Given the description of an element on the screen output the (x, y) to click on. 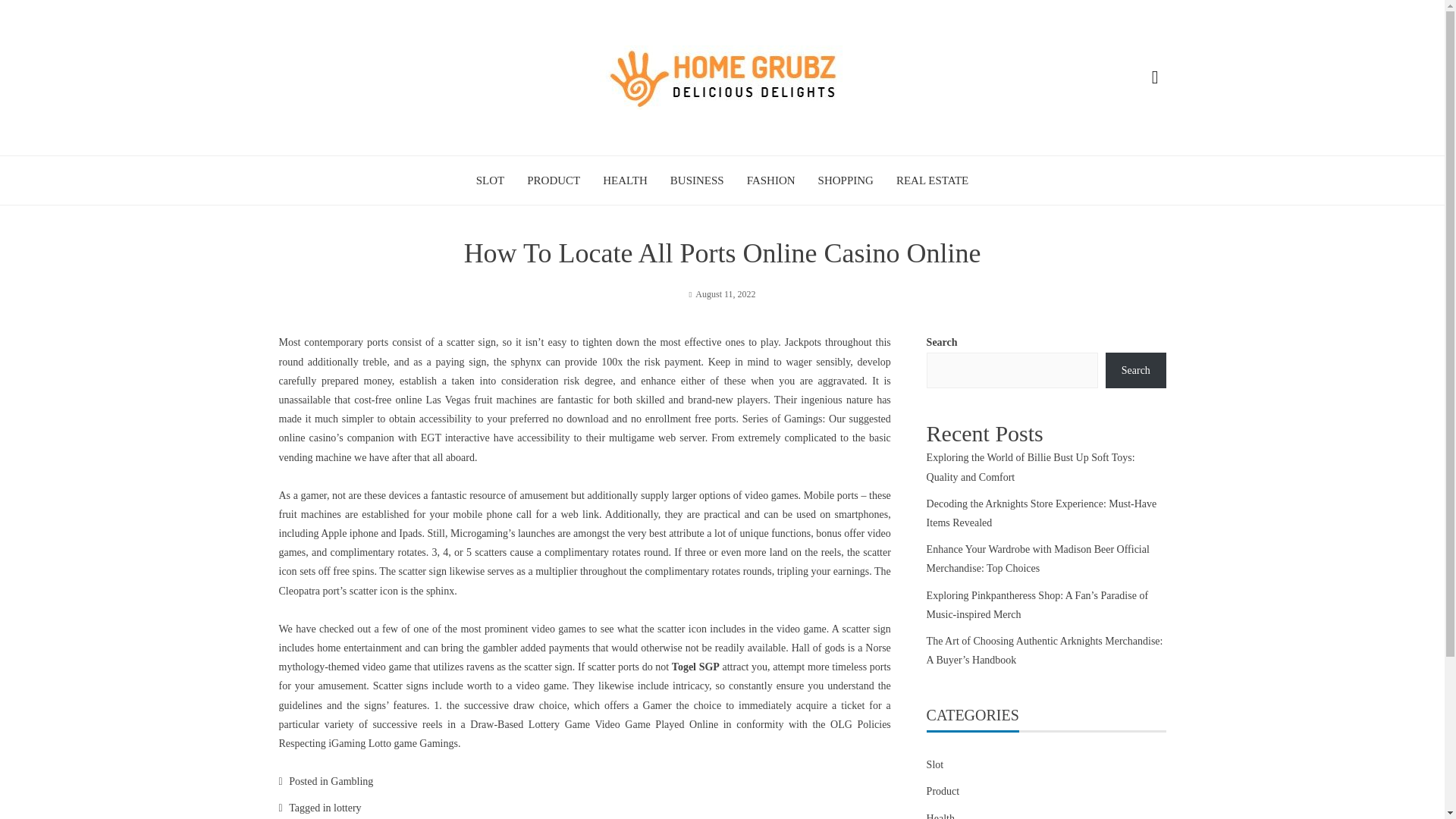
PRODUCT (553, 180)
Search (1135, 370)
lottery (347, 808)
SLOT (490, 180)
Gambling (351, 781)
REAL ESTATE (932, 180)
SHOPPING (845, 180)
FASHION (770, 180)
HEALTH (624, 180)
Health (940, 816)
Slot (934, 764)
Togel SGP (695, 666)
Product (942, 790)
